Given the description of an element on the screen output the (x, y) to click on. 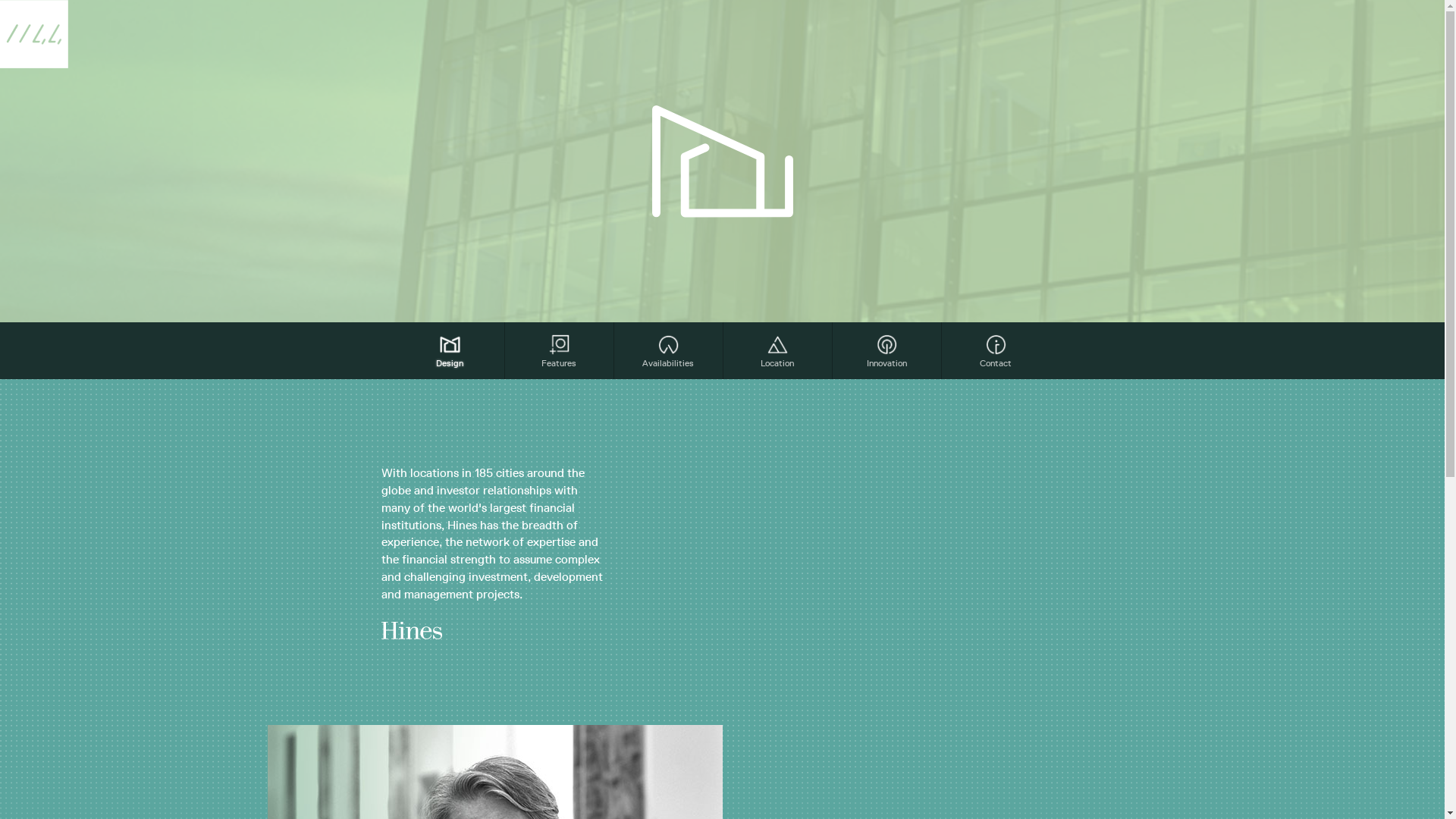
Availabilities Element type: text (668, 351)
Design Element type: text (449, 351)
Features Element type: text (559, 351)
Location Element type: text (777, 351)
Contact Element type: text (995, 351)
Innovation Element type: text (886, 351)
